Given the description of an element on the screen output the (x, y) to click on. 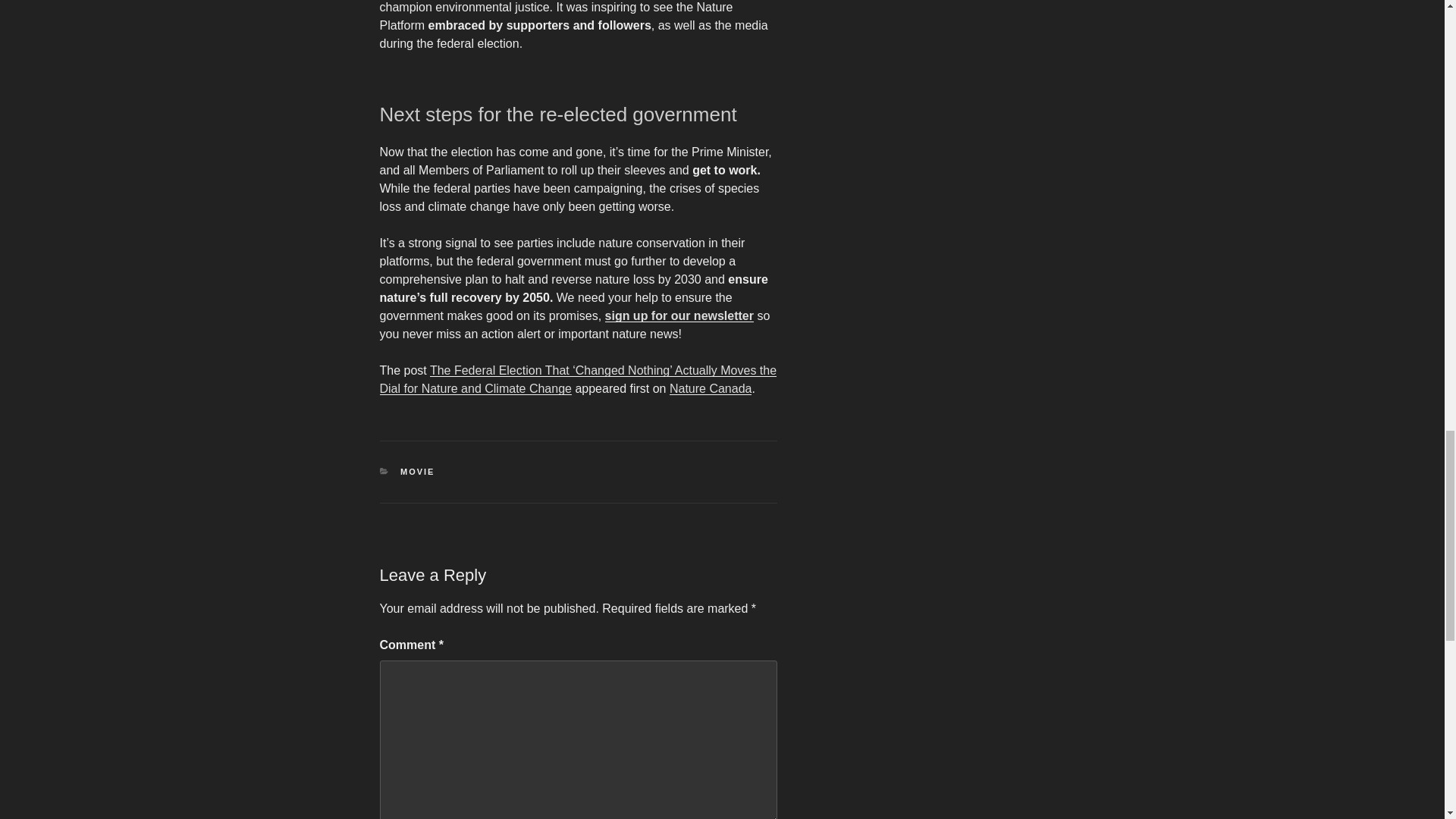
Nature Canada (710, 388)
MOVIE (416, 470)
sign up for our newsletter (679, 315)
